Given the description of an element on the screen output the (x, y) to click on. 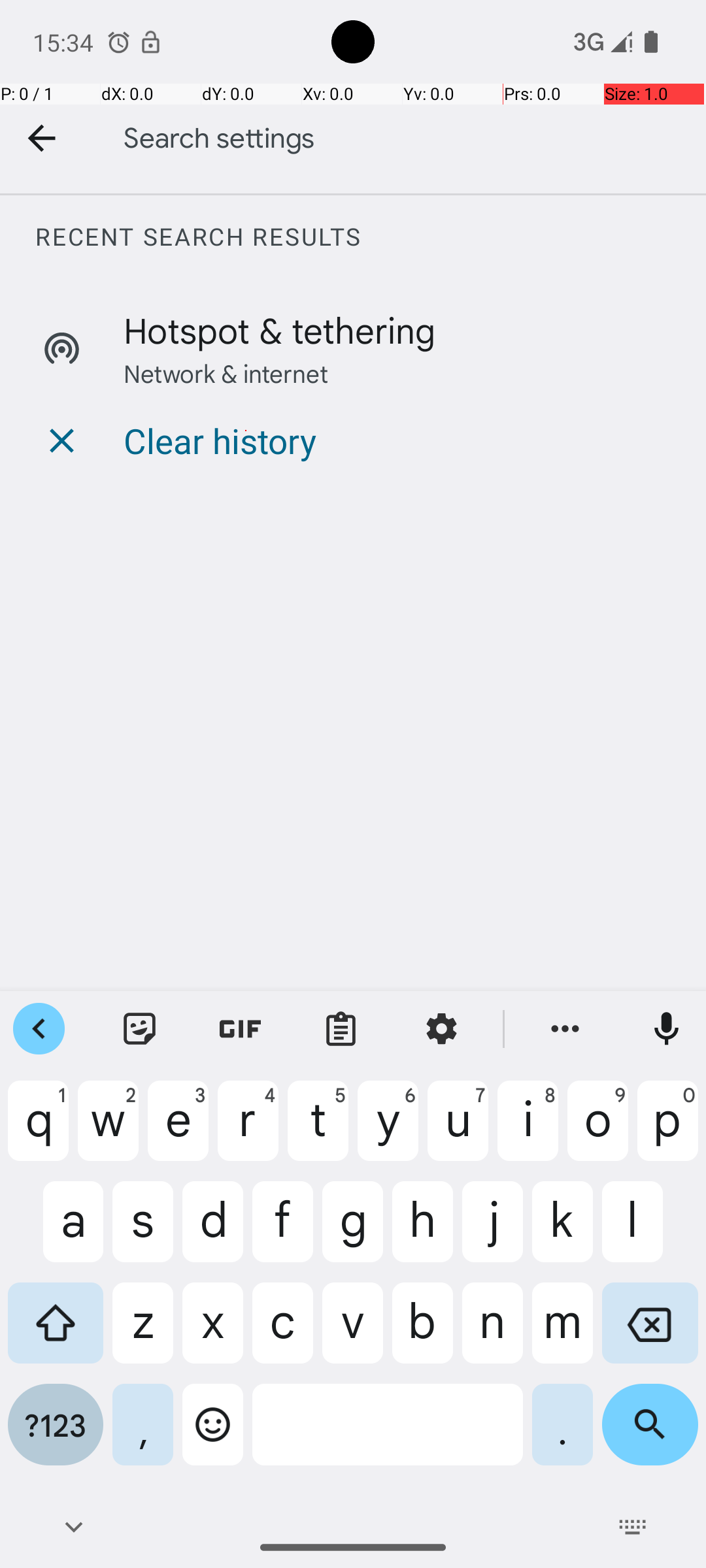
RECENT SEARCH RESULTS Element type: android.widget.TextView (370, 236)
Clear history Element type: android.widget.TextView (219, 440)
